Given the description of an element on the screen output the (x, y) to click on. 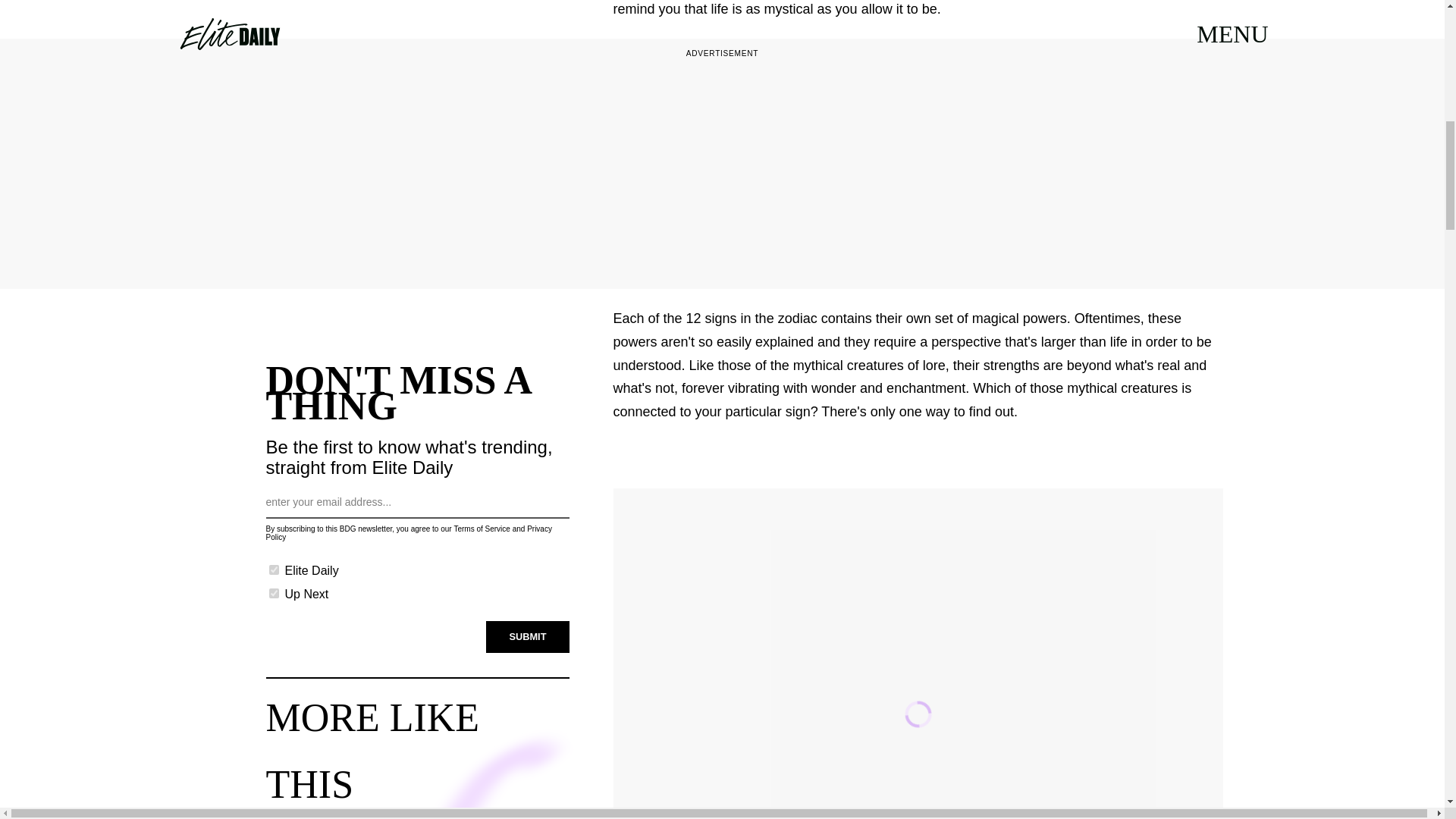
SUBMIT (527, 636)
Privacy Policy (407, 532)
Terms of Service (480, 528)
